Given the description of an element on the screen output the (x, y) to click on. 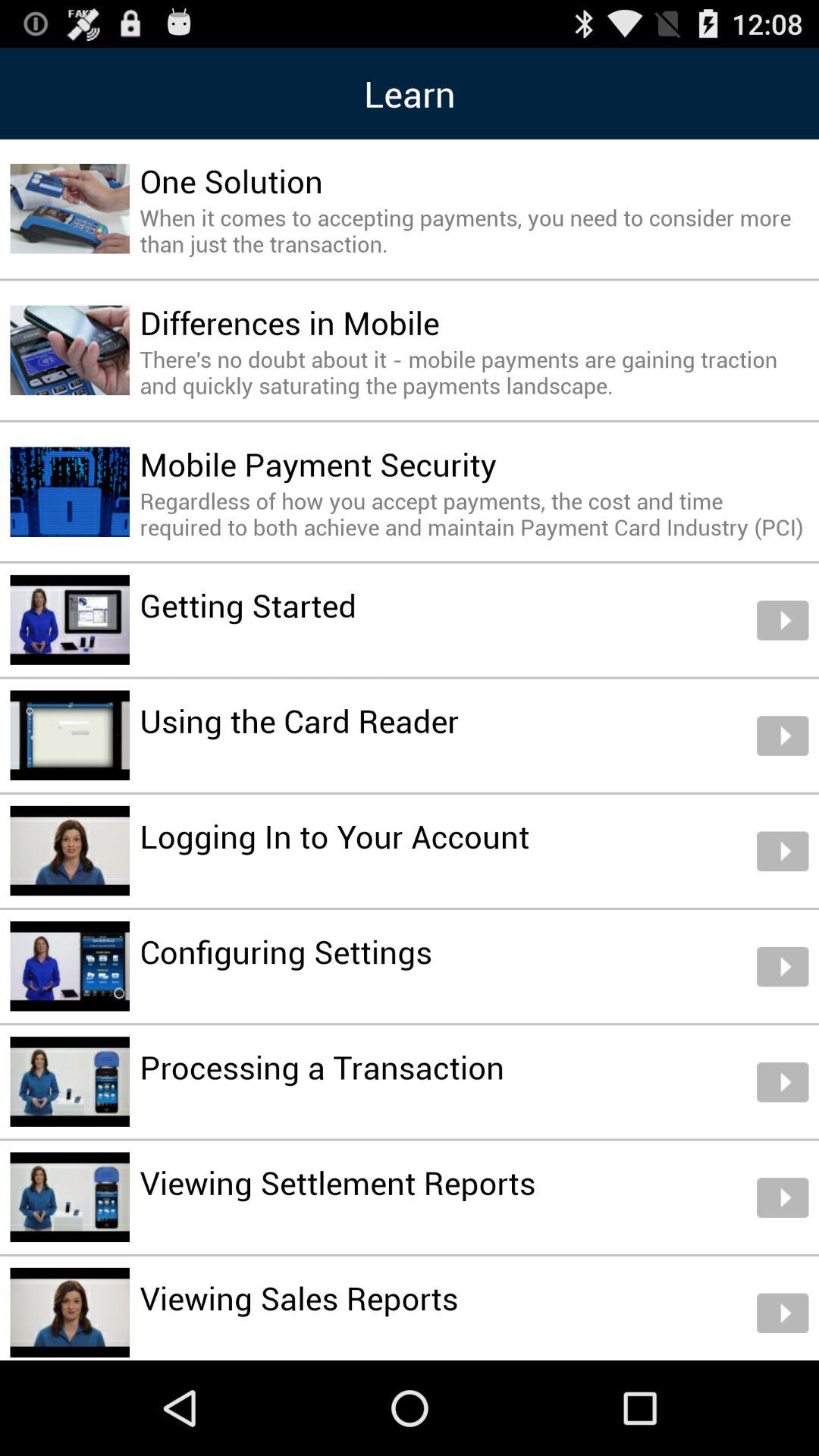
click the regardless of how icon (473, 513)
